Given the description of an element on the screen output the (x, y) to click on. 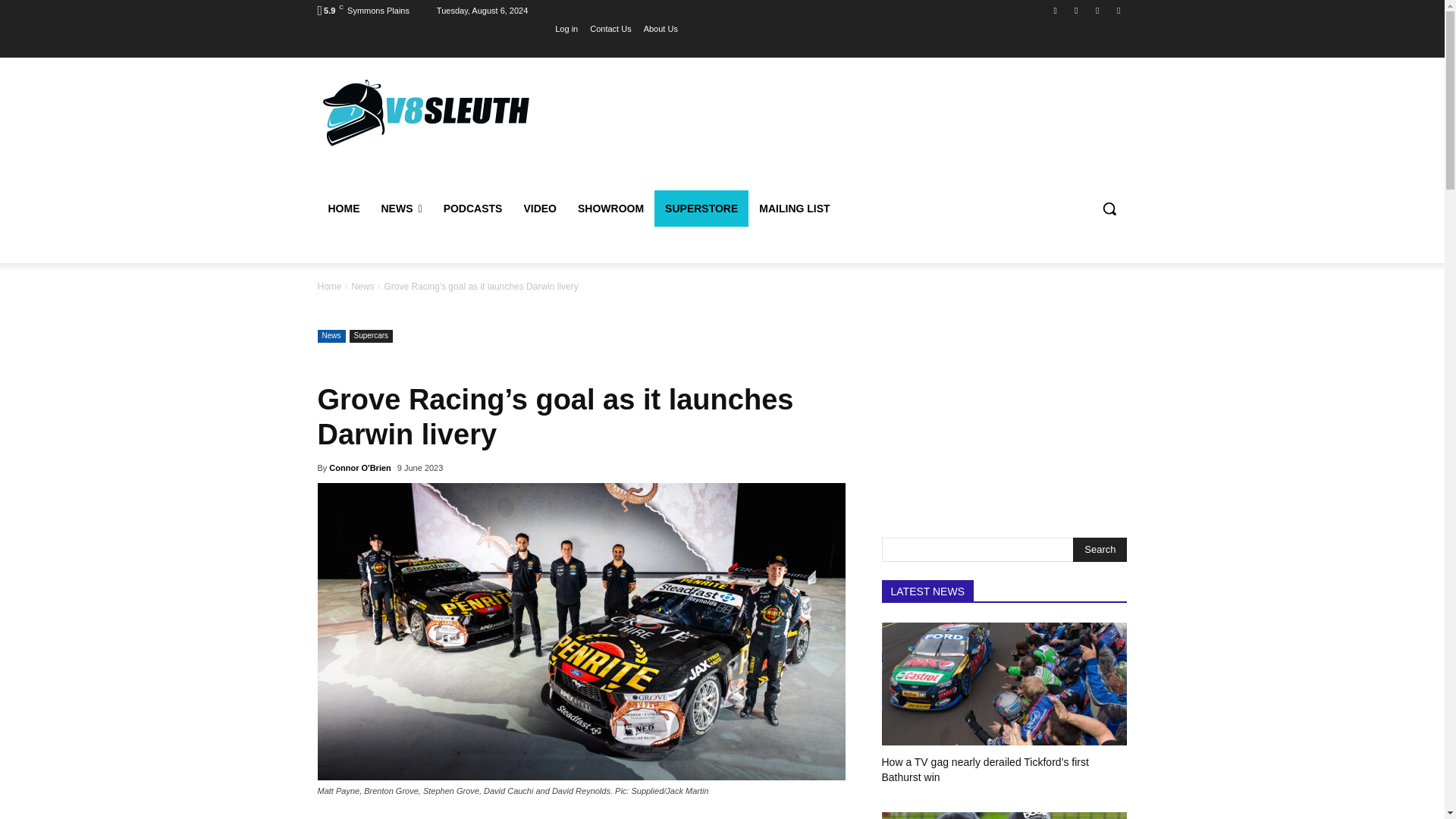
Facebook (1055, 9)
NEWS (400, 208)
Youtube (1117, 9)
Contact Us (609, 28)
HOME (343, 208)
Twitter (1097, 9)
Instagram (1075, 9)
Log in (566, 28)
About Us (660, 28)
